Given the description of an element on the screen output the (x, y) to click on. 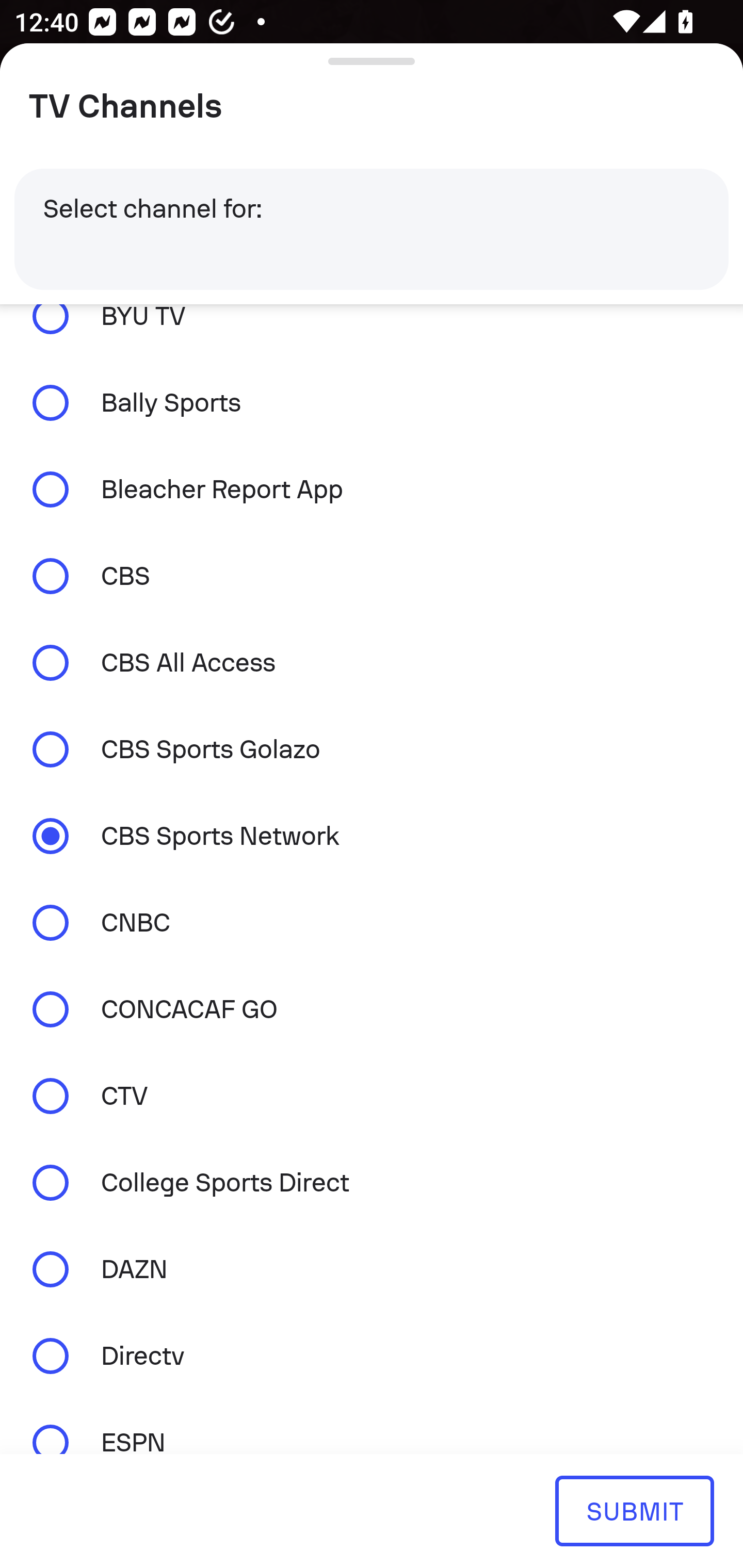
BYU TV (371, 331)
Bally Sports (371, 402)
Bleacher Report App (371, 489)
CBS (371, 576)
CBS All Access (371, 662)
CBS Sports Golazo (371, 749)
CBS Sports Network (371, 836)
CNBC (371, 922)
CONCACAF GO (371, 1008)
CTV (371, 1095)
College Sports Direct (371, 1182)
DAZN (371, 1269)
Directv (371, 1355)
ESPN (371, 1425)
SUBMIT (634, 1510)
